Given the description of an element on the screen output the (x, y) to click on. 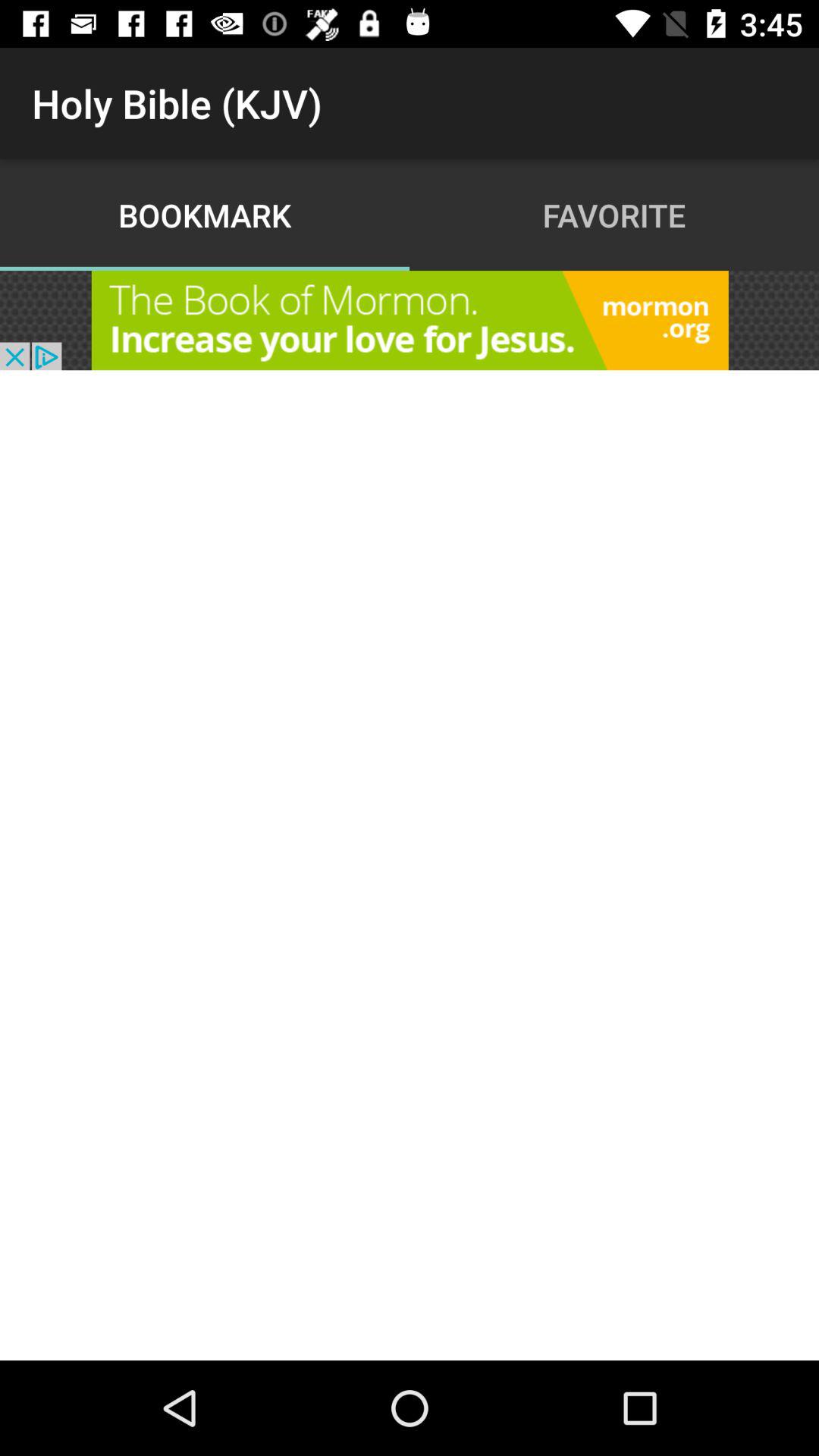
adventisment page (409, 320)
